Given the description of an element on the screen output the (x, y) to click on. 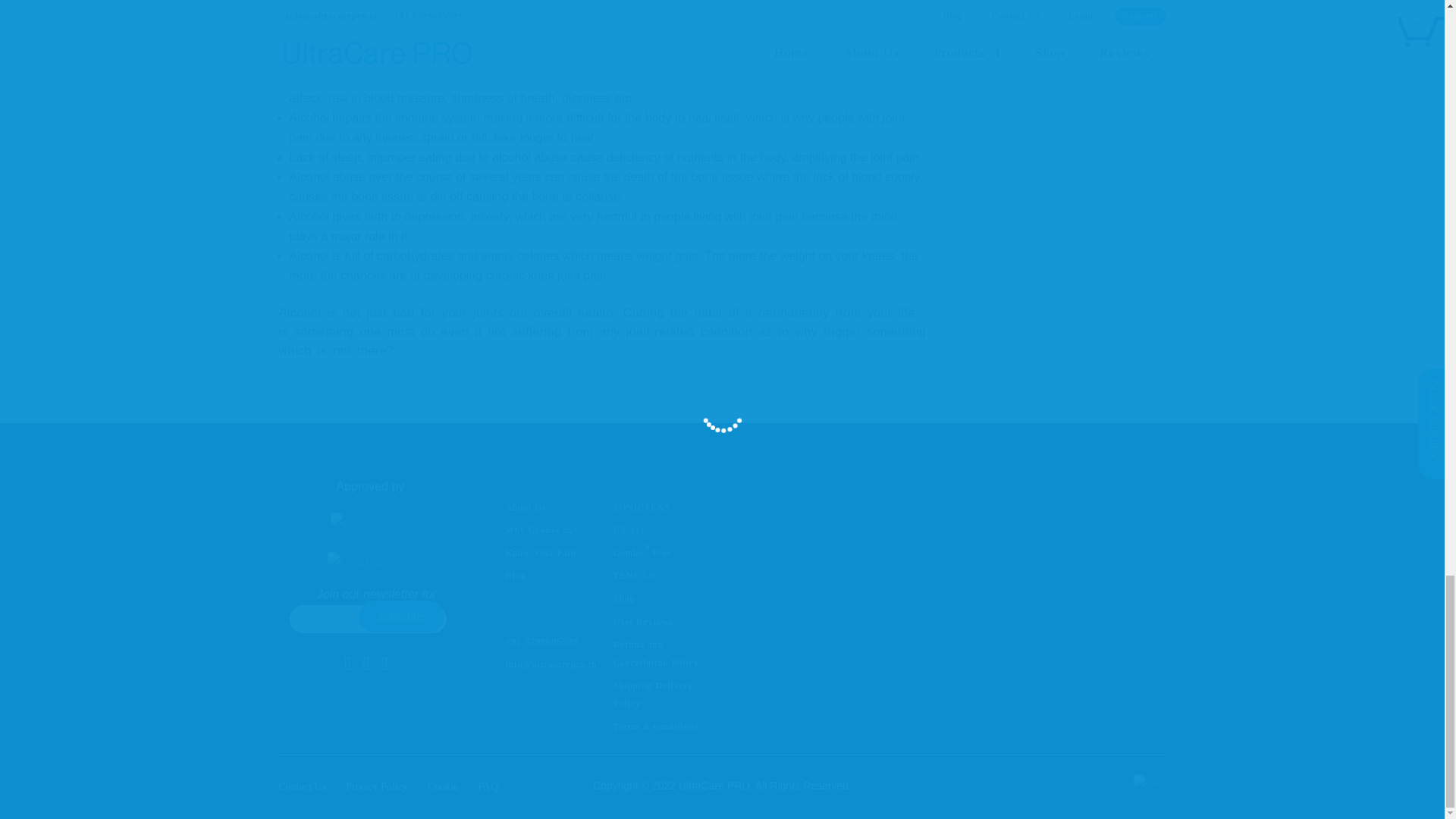
Subscribe (401, 616)
